Given the description of an element on the screen output the (x, y) to click on. 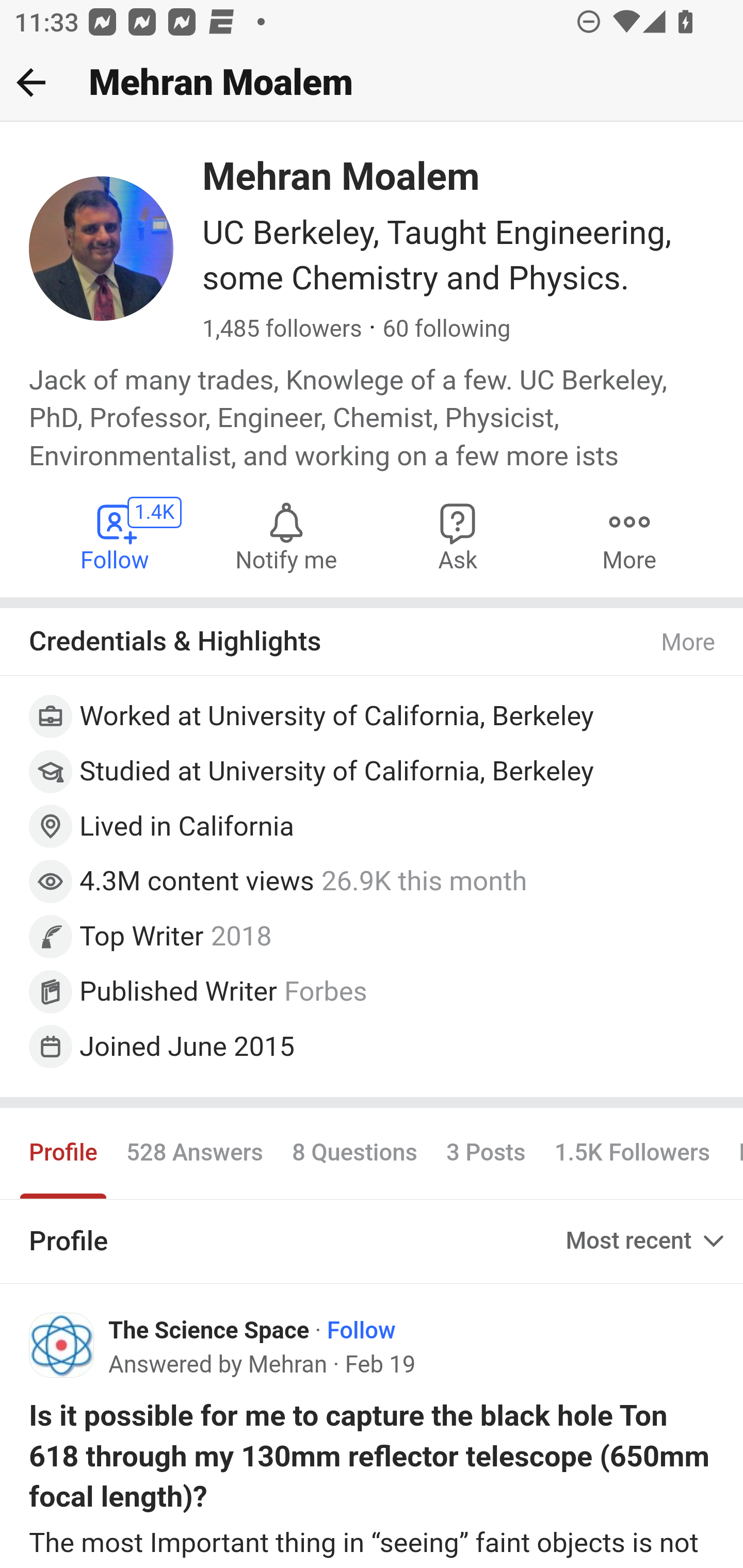
Back (30, 82)
1,485 followers (282, 329)
60 following (445, 329)
Follow Mehran Moalem 1.4K Follow (115, 536)
Notify me (285, 536)
Ask (458, 536)
More (628, 536)
More (688, 642)
Published Writer (178, 990)
Profile (63, 1153)
528 Answers (193, 1153)
8 Questions (354, 1153)
3 Posts (485, 1153)
1.5K Followers (631, 1153)
Most recent (647, 1241)
Icon for The Science Space (61, 1344)
The Science Space (209, 1331)
Follow (361, 1331)
